Given the description of an element on the screen output the (x, y) to click on. 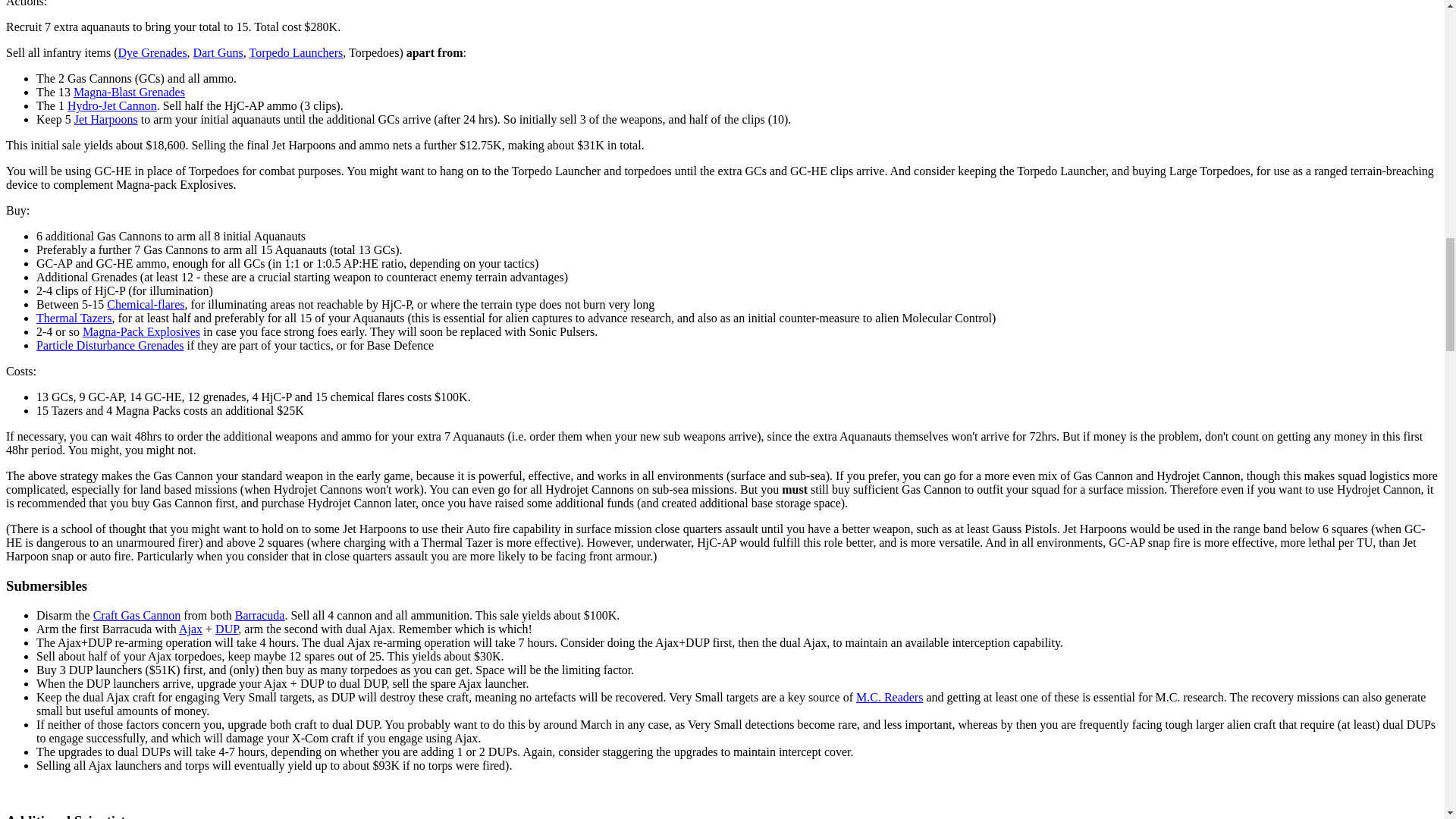
Dart Gun (218, 51)
Magna-Blast Grenade (129, 91)
Jet Harpoon (106, 119)
Torpedo Launcher (295, 51)
Thermal Tazer (74, 318)
Dye Grenade (152, 51)
Particle Disturbance Grenade (110, 345)
Hydro-Jet Cannon (111, 105)
Chemical-flare (145, 304)
Magna-Pack Explosive (141, 331)
